Given the description of an element on the screen output the (x, y) to click on. 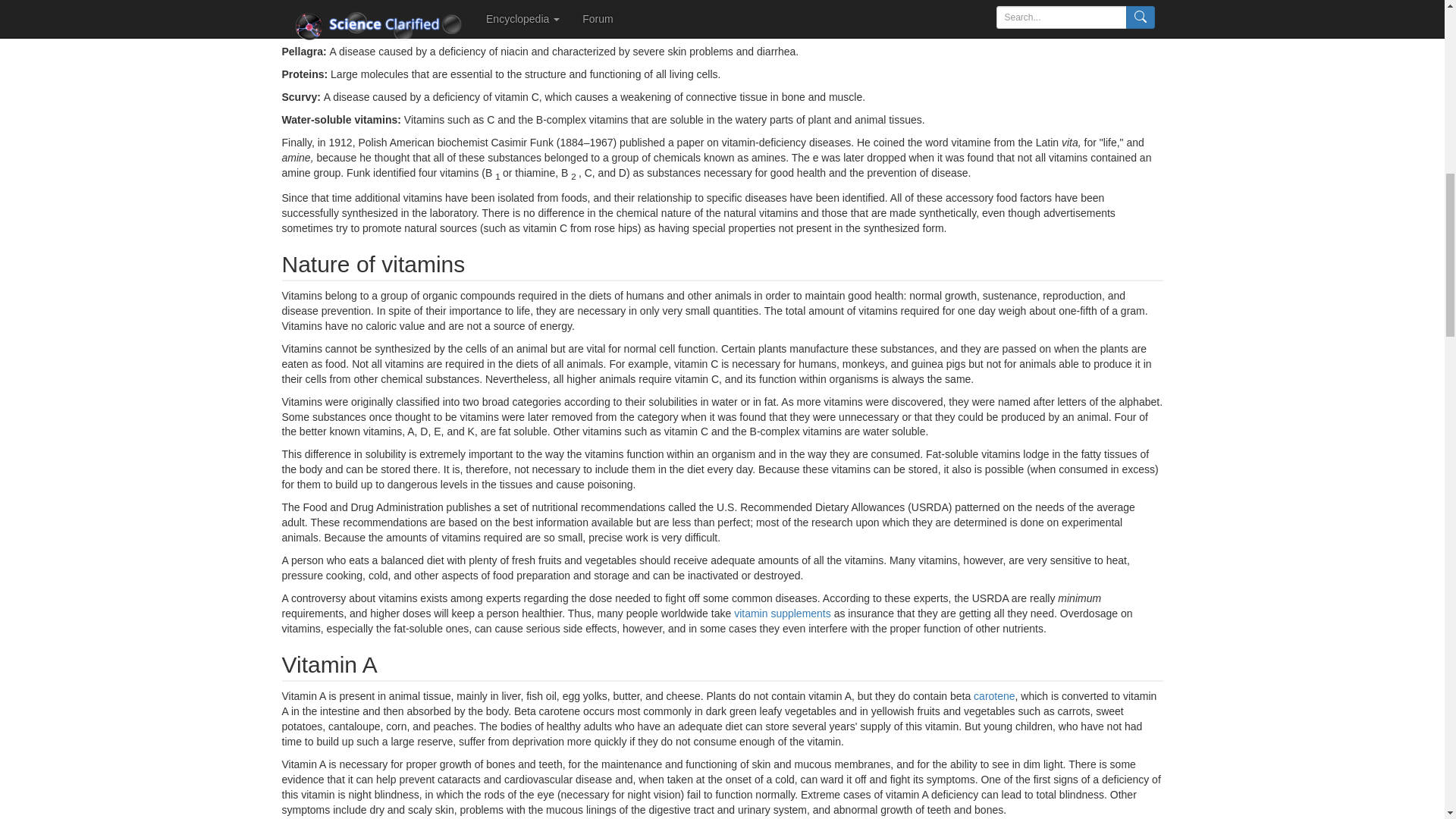
carotene (994, 695)
View 'carotene' definition from Wikipedia (994, 695)
View 'vitamin supplements' definition from Wikipedia (782, 613)
vitamin supplements (782, 613)
